Given the description of an element on the screen output the (x, y) to click on. 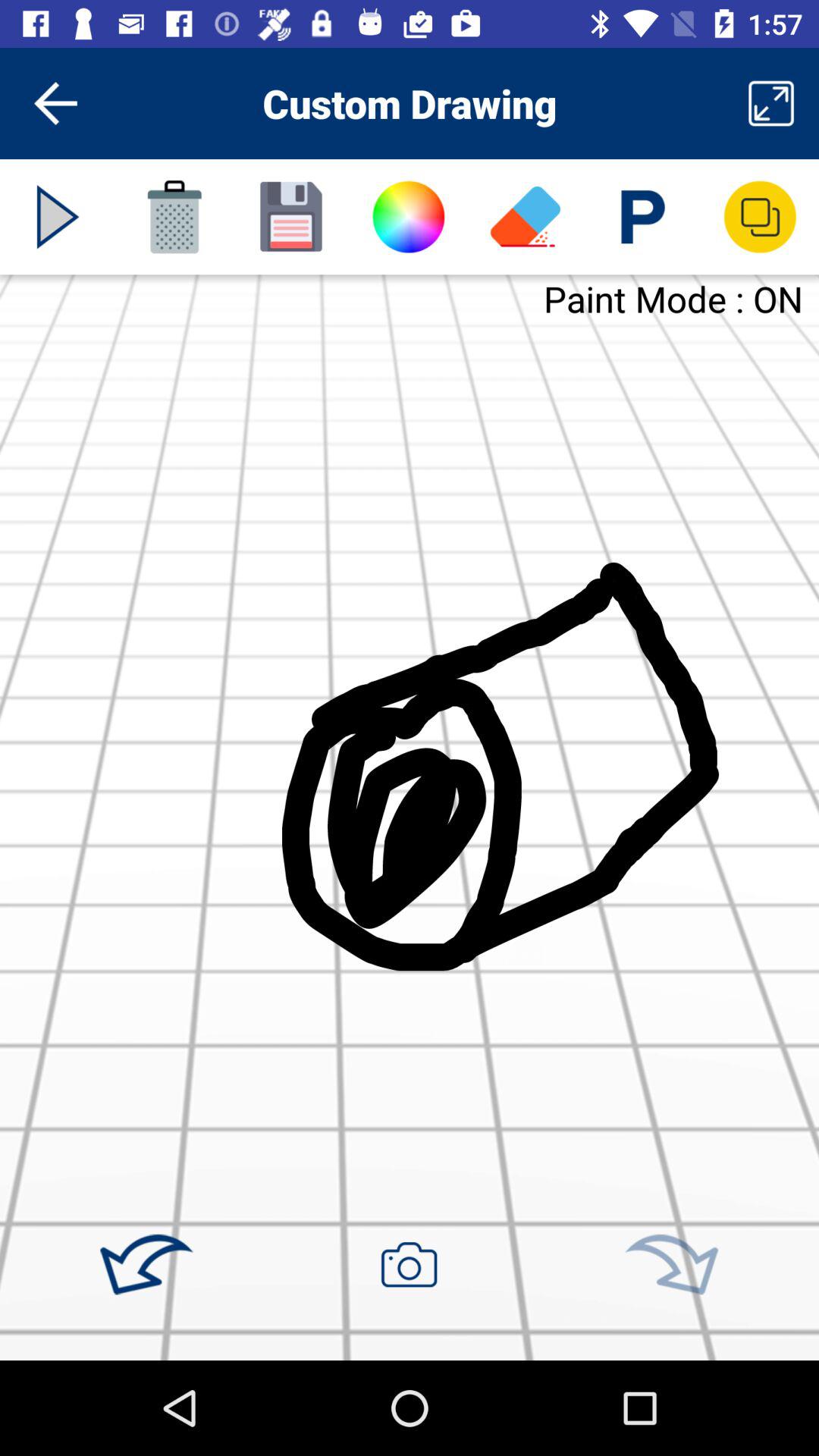
save image (291, 216)
